Given the description of an element on the screen output the (x, y) to click on. 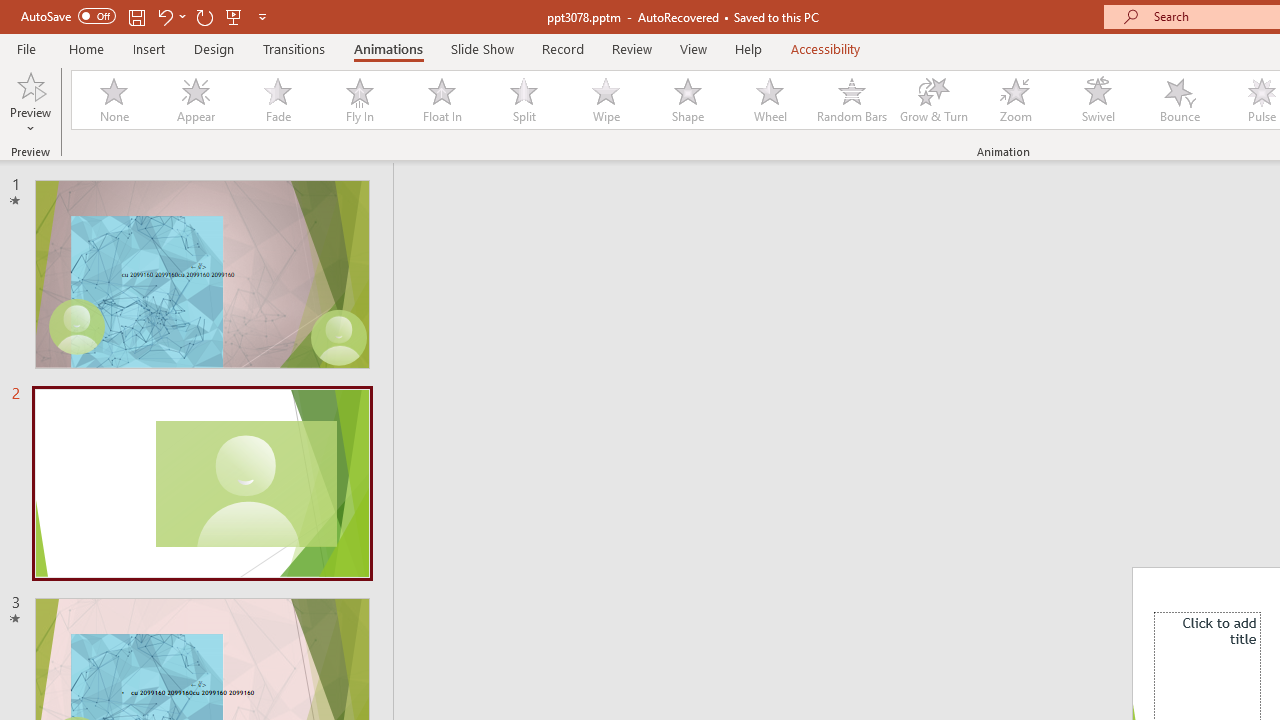
Appear (195, 100)
Random Bars (852, 100)
Float In (441, 100)
None (113, 100)
Fade (277, 100)
Shape (687, 100)
Grow & Turn (934, 100)
Wipe (605, 100)
